Given the description of an element on the screen output the (x, y) to click on. 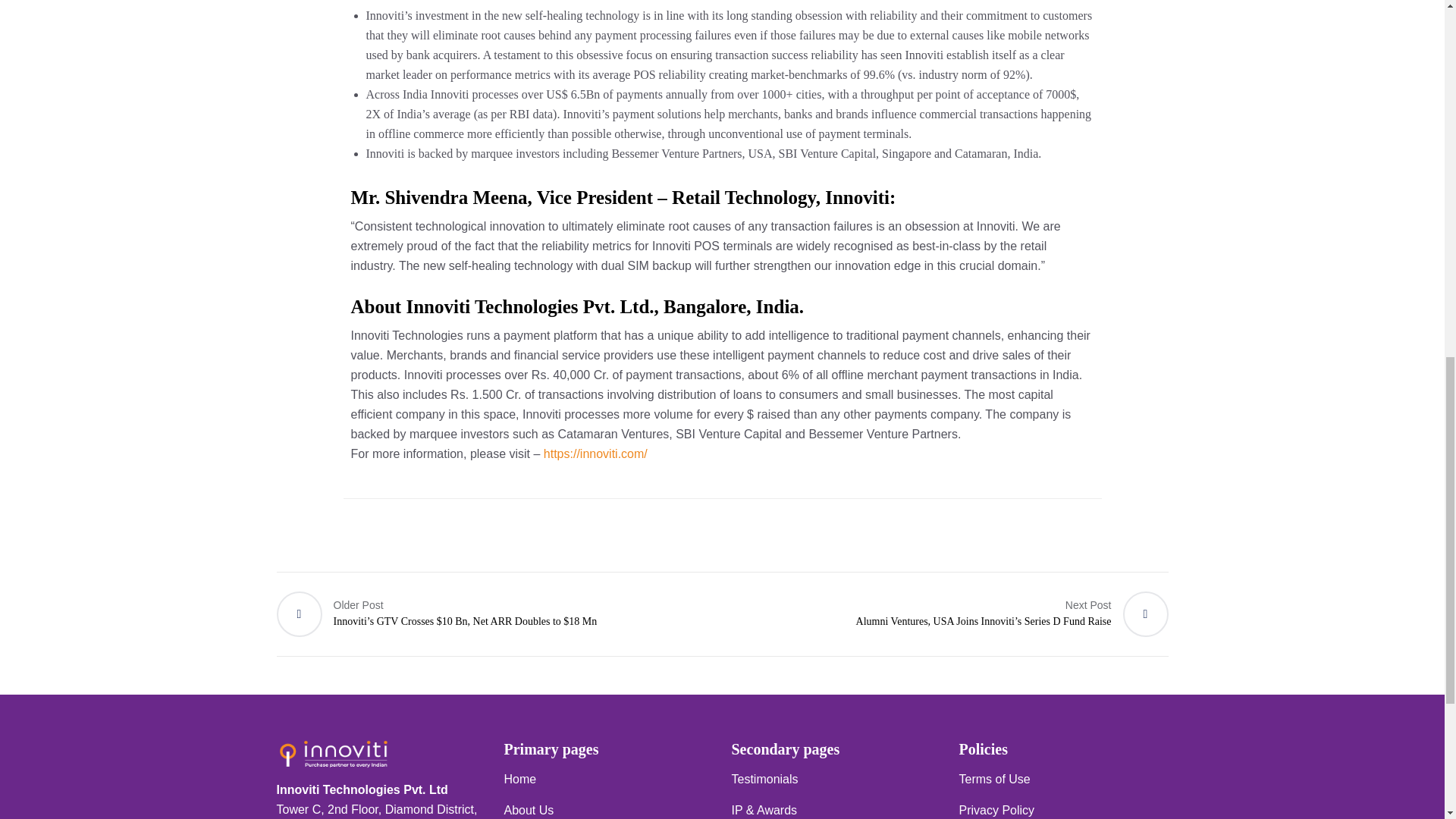
Terms of Use (993, 779)
Testimonials (763, 779)
About Us (528, 809)
Privacy Policy (995, 809)
Home (519, 779)
